Given the description of an element on the screen output the (x, y) to click on. 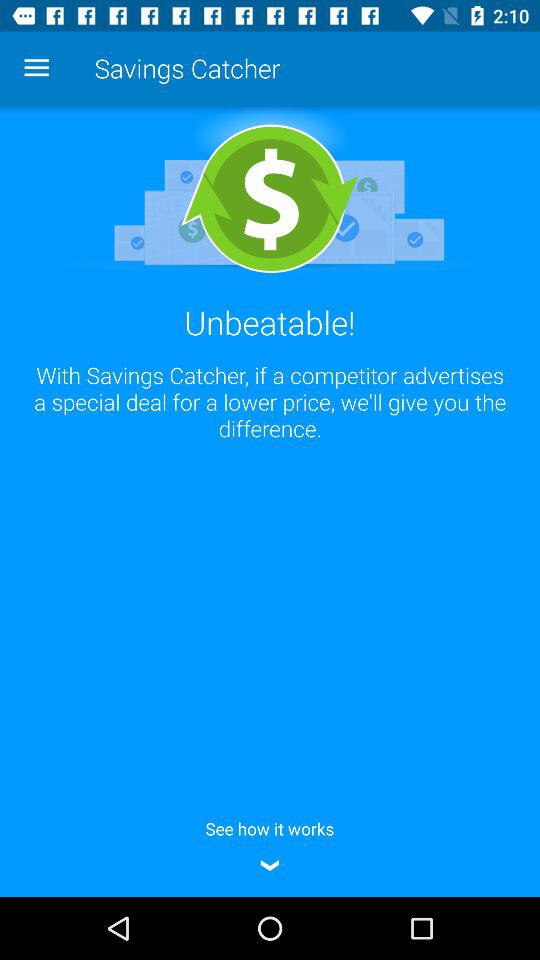
press the app next to savings catcher app (36, 68)
